Given the description of an element on the screen output the (x, y) to click on. 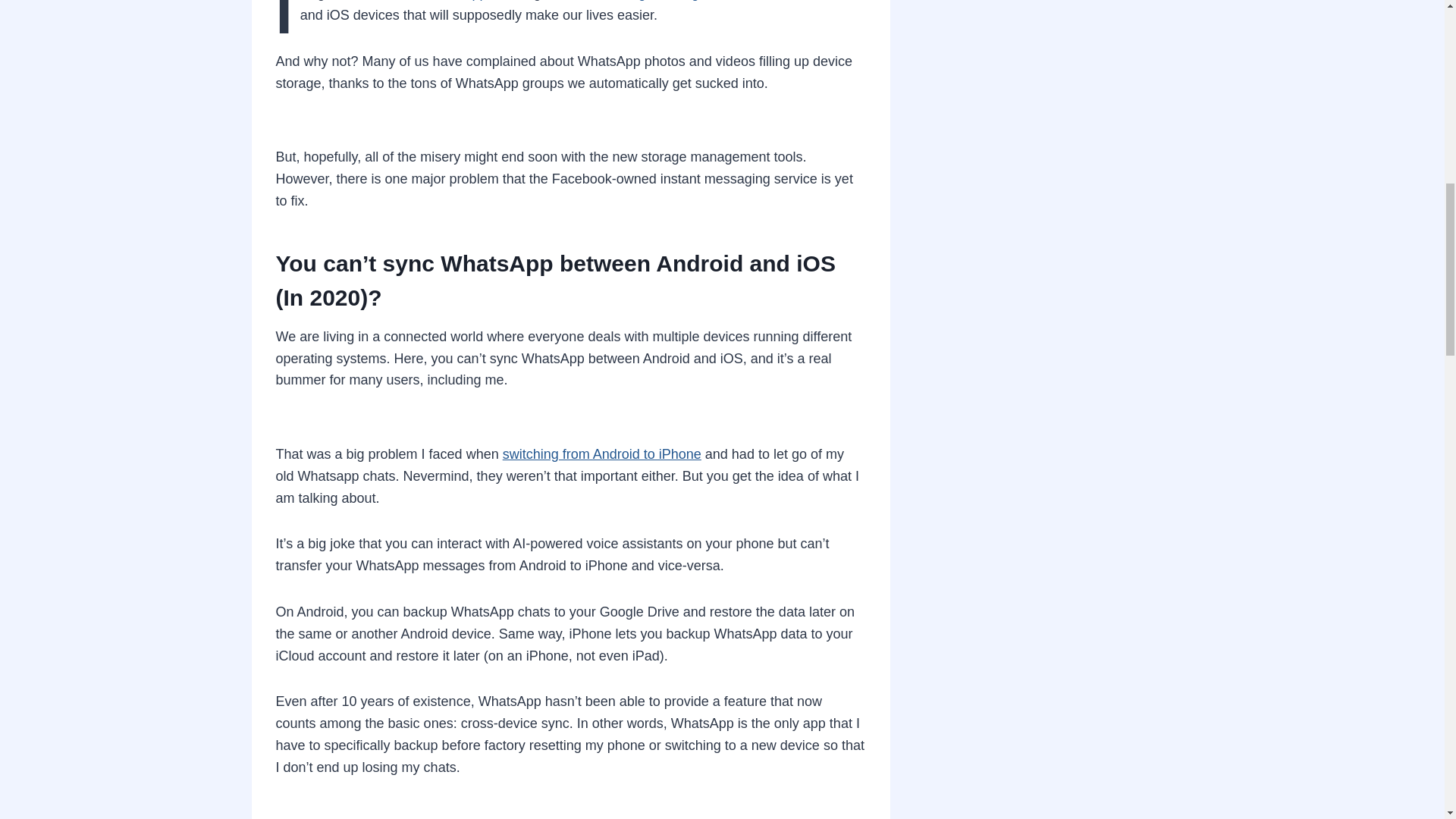
WhatsApp (456, 0)
switching from Android to iPhone (601, 453)
